Given the description of an element on the screen output the (x, y) to click on. 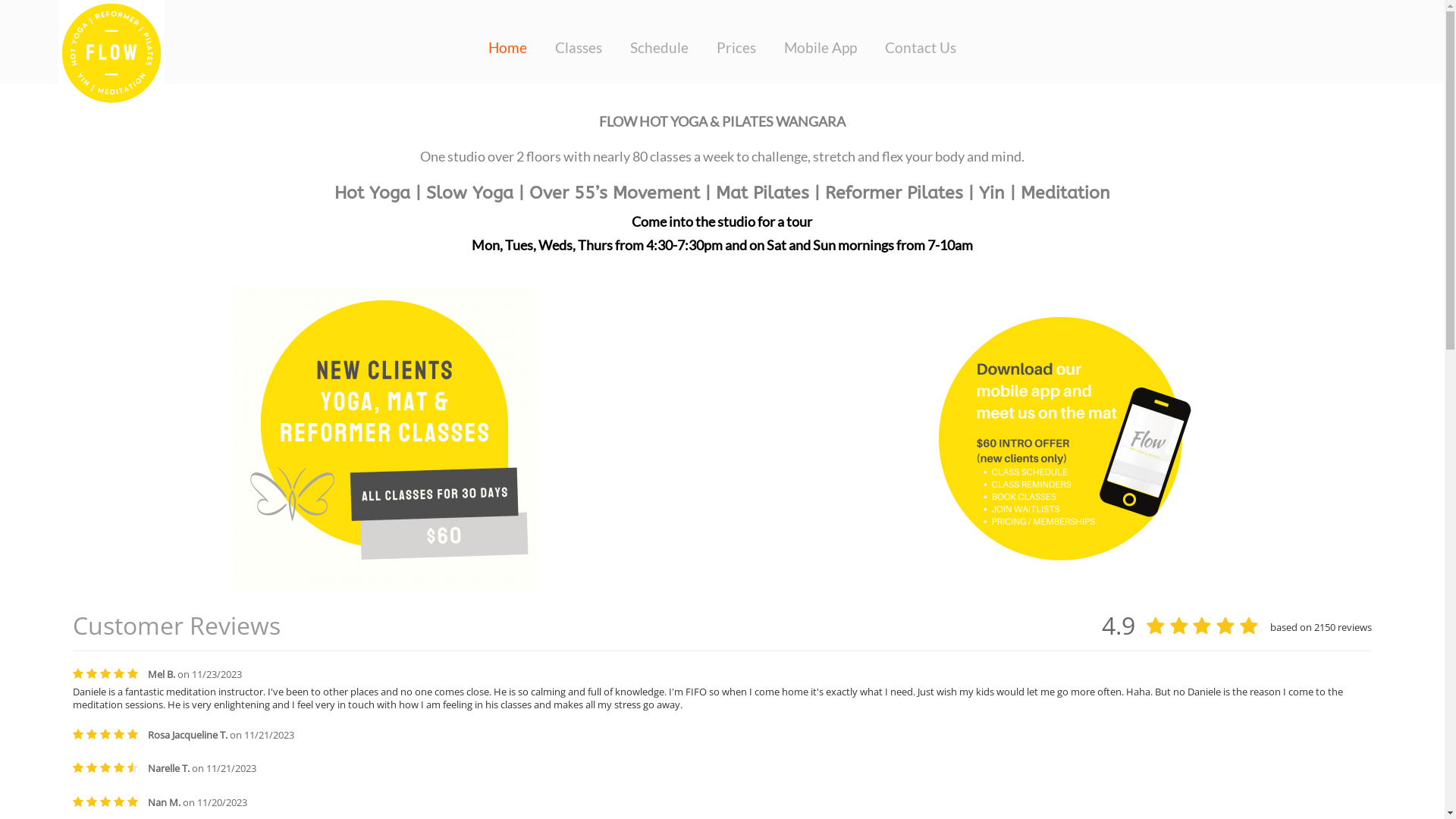
Flow Hot Yoga & Pilates Element type: text (111, 53)
Contact Us Element type: text (920, 47)
Mobile App Element type: text (820, 47)
Home Element type: text (507, 47)
Classes Element type: text (578, 47)
CLASSES Element type: hover (384, 437)
Download our mobile app and meet us on the mat Element type: hover (1059, 437)
Schedule Element type: text (659, 47)
Prices Element type: text (736, 47)
